Given the description of an element on the screen output the (x, y) to click on. 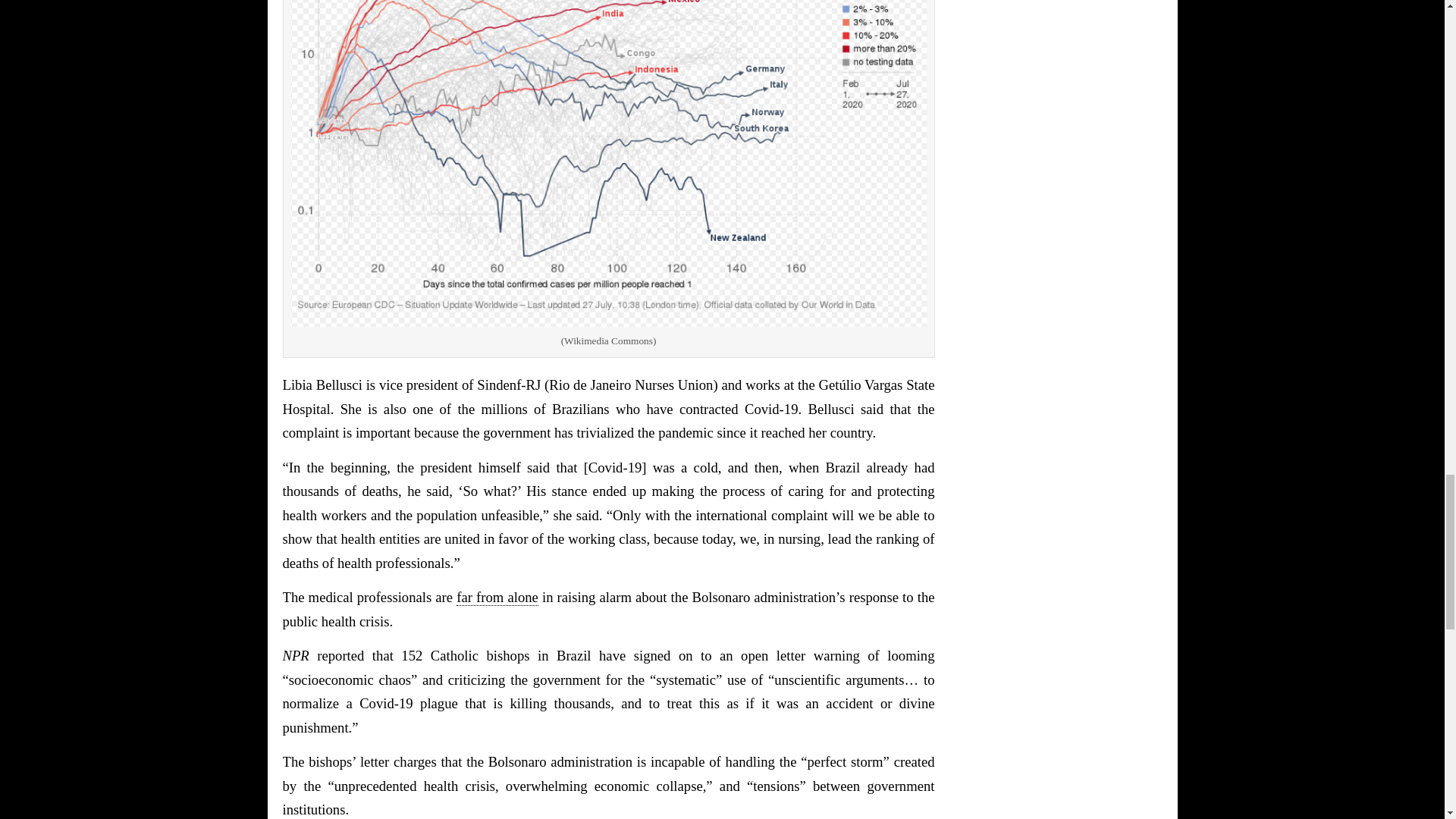
far from alone (497, 597)
